Given the description of an element on the screen output the (x, y) to click on. 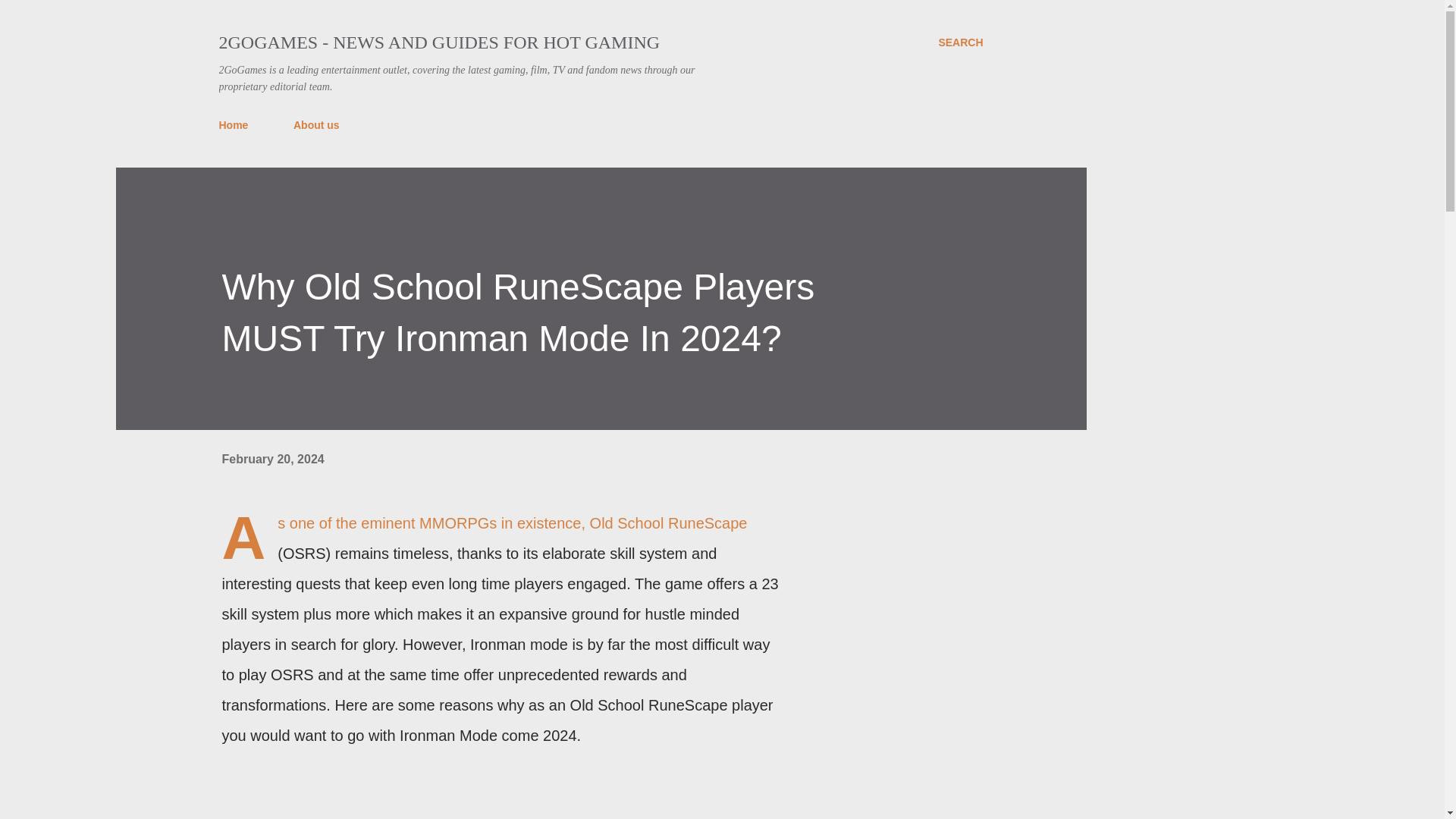
Home (237, 124)
Old School RuneScape (668, 523)
February 20, 2024 (272, 459)
permanent link (272, 459)
About us (316, 124)
SEARCH (959, 42)
2GOGAMES - NEWS AND GUIDES FOR HOT GAMING (438, 42)
